Given the description of an element on the screen output the (x, y) to click on. 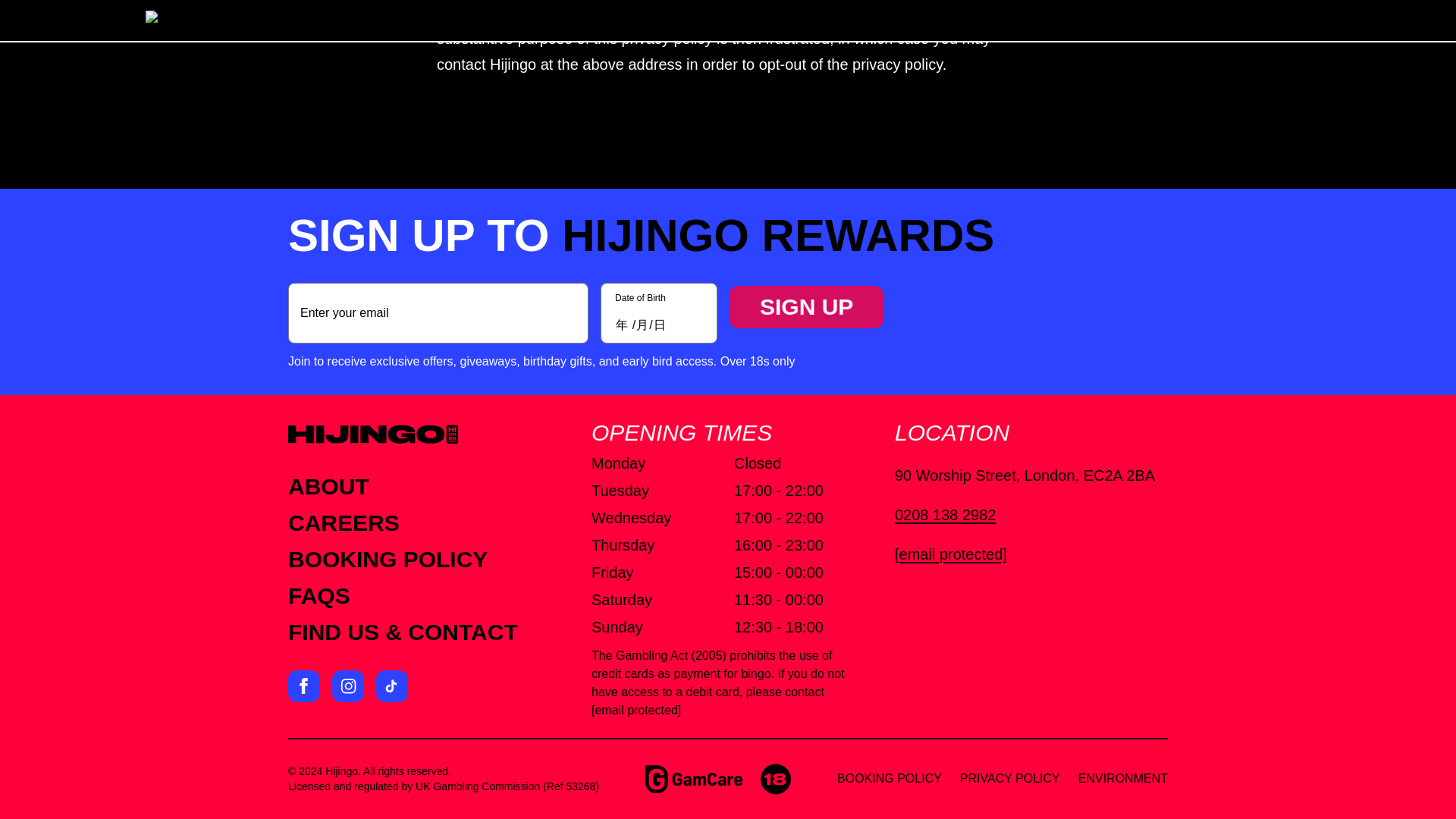
BOOKING POLICY (889, 778)
FAQS (319, 595)
0208 138 2982 (1031, 514)
Tiktok (391, 685)
CAREERS (343, 522)
ENVIRONMENT (1122, 778)
Instagram (347, 685)
Facebook (304, 685)
SIGN UP (806, 306)
ABOUT (328, 486)
